Given the description of an element on the screen output the (x, y) to click on. 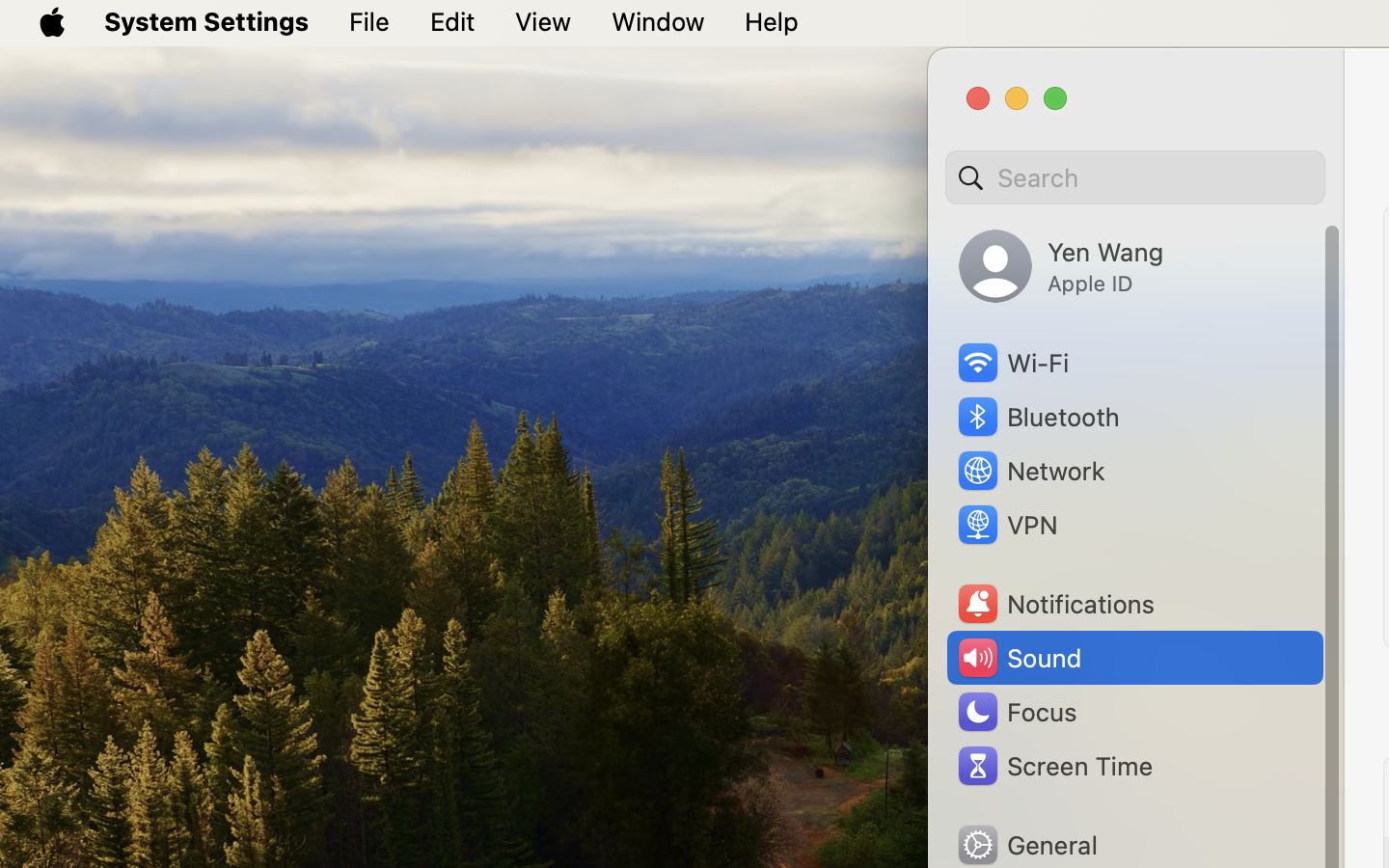
Network Element type: AXStaticText (1029, 470)
Bluetooth Element type: AXStaticText (1037, 416)
VPN Element type: AXStaticText (1005, 524)
Wi‑Fi Element type: AXStaticText (1011, 362)
Screen Time Element type: AXStaticText (1053, 765)
